Given the description of an element on the screen output the (x, y) to click on. 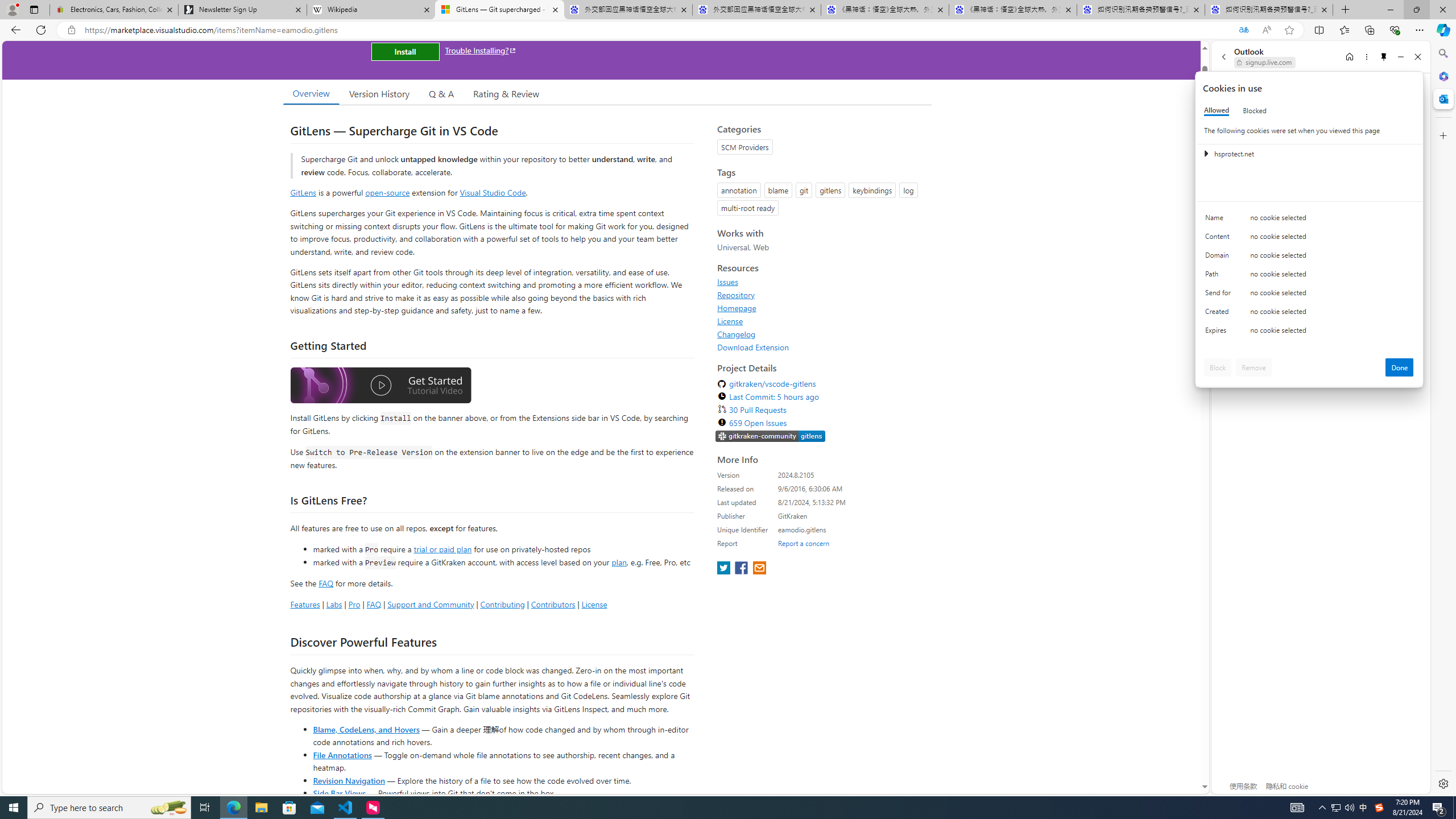
Block (1217, 367)
Created (1219, 313)
Domain (1219, 257)
Send for (1219, 295)
Name (1219, 220)
Expires (1219, 332)
no cookie selected (1331, 332)
Done (1399, 367)
Content (1219, 239)
Class: c0153 c0157 (1309, 332)
Class: c0153 c0157 c0154 (1309, 220)
Allowed (1216, 110)
Path (1219, 276)
Blocked (1255, 110)
Remove (1253, 367)
